Given the description of an element on the screen output the (x, y) to click on. 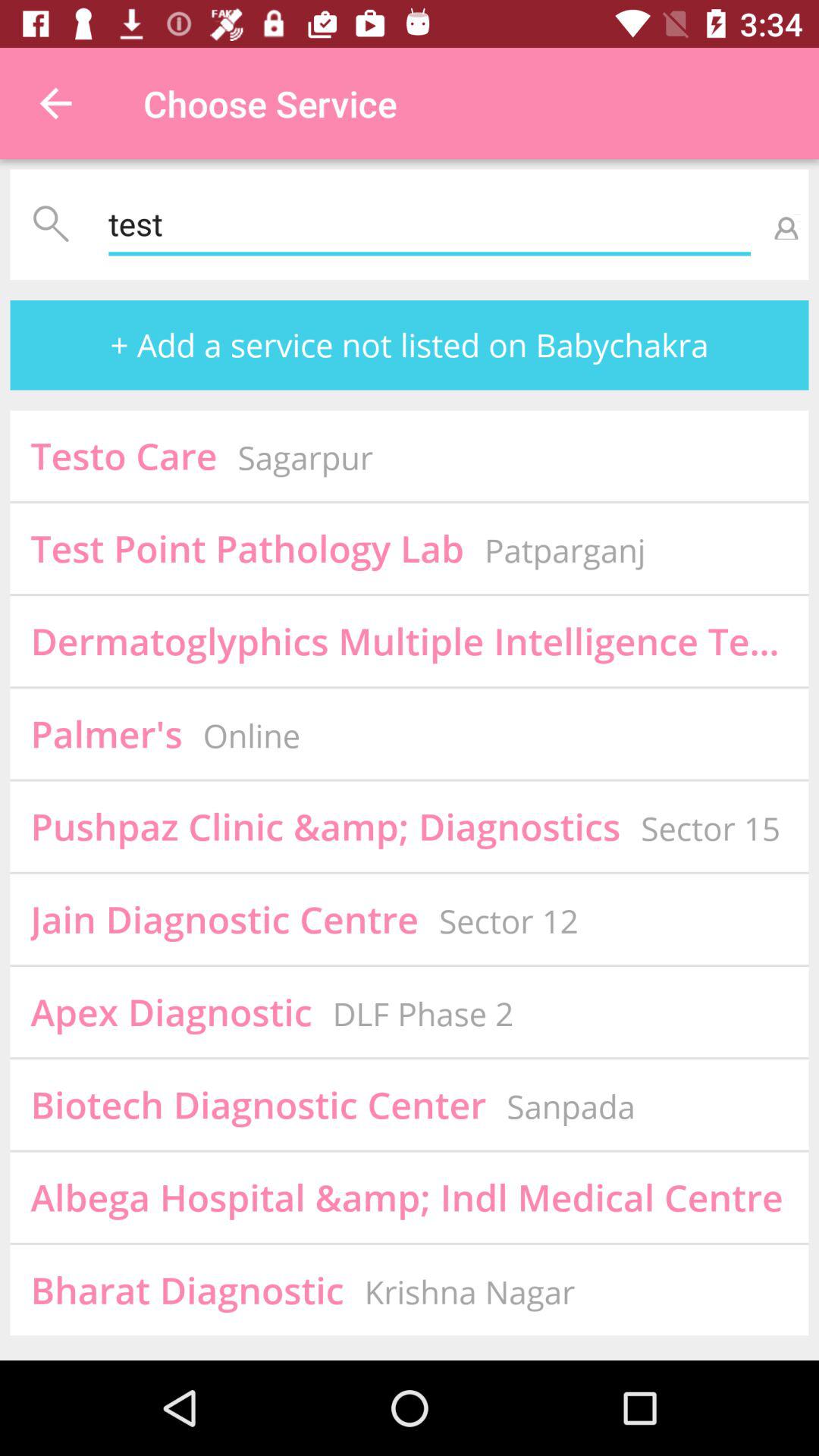
press the icon above dermatoglyphics multiple intelligence (564, 549)
